Given the description of an element on the screen output the (x, y) to click on. 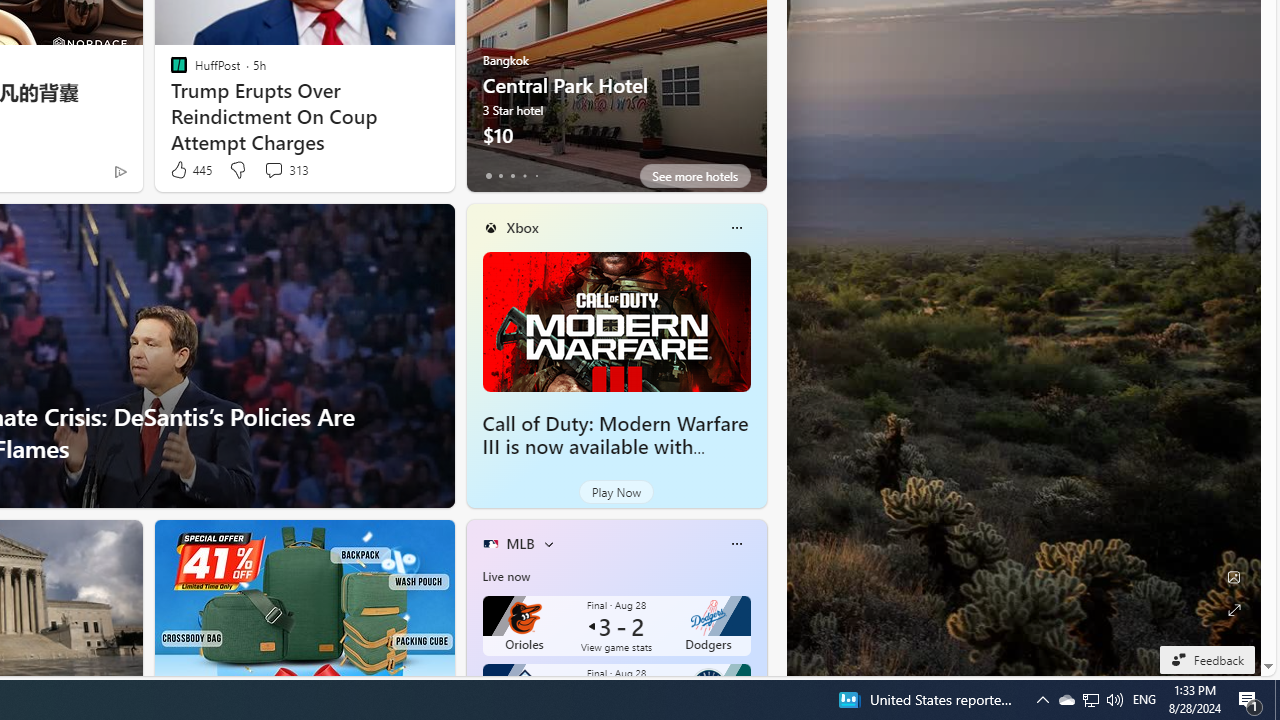
Class: icon-img (736, 543)
445 Like (190, 170)
Xbox (521, 227)
tab-0 (488, 175)
tab-4 (535, 175)
View comments 313 Comment (285, 170)
Dislike (237, 170)
More options (736, 543)
tab-2 (511, 175)
Ad Choice (119, 171)
MLB (520, 543)
Edit Background (1233, 577)
View comments 313 Comment (273, 169)
